Given the description of an element on the screen output the (x, y) to click on. 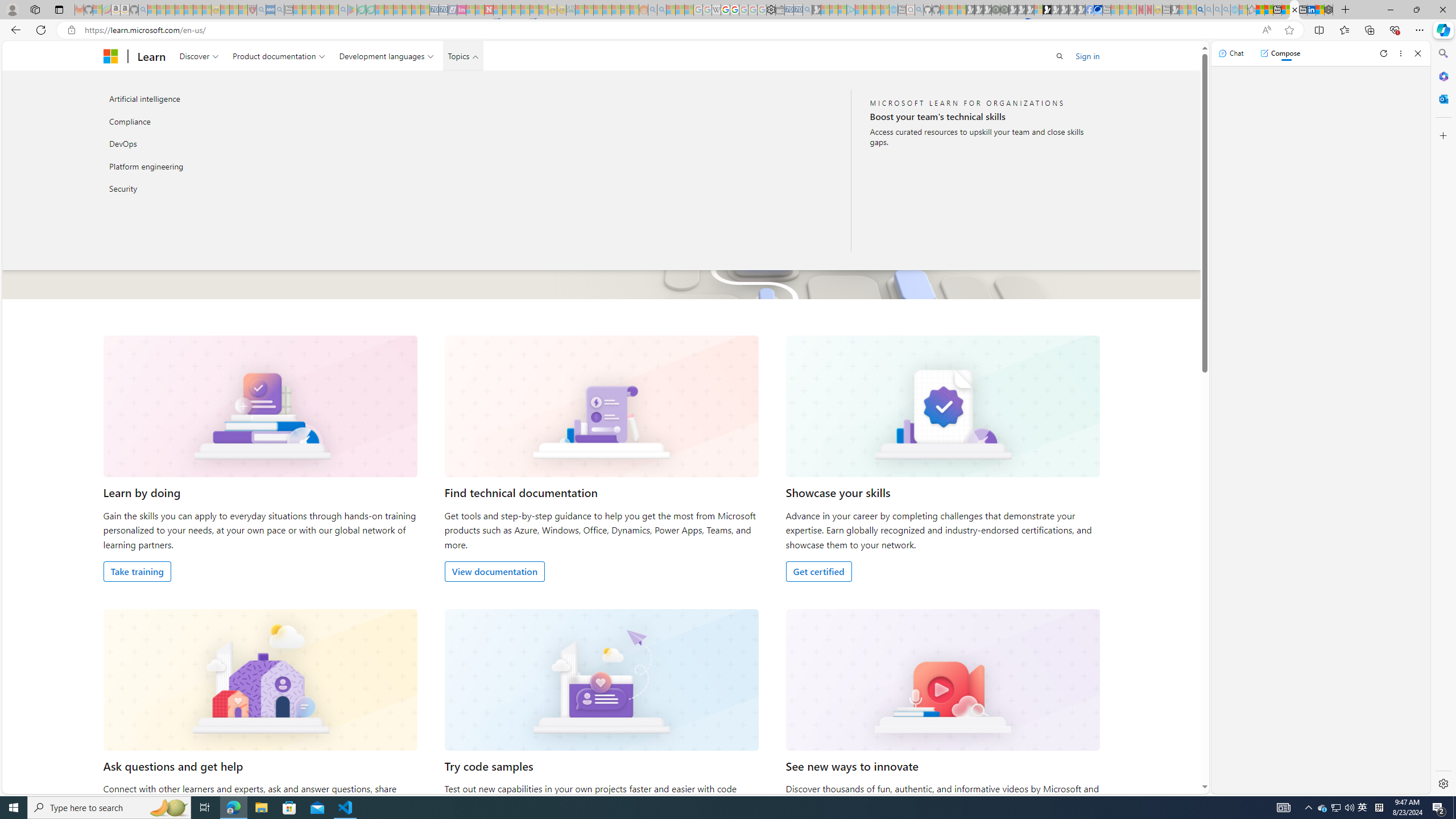
Artificial intelligence (224, 99)
Nordace | Facebook - Sleeping (1089, 9)
Open search (1059, 55)
